Given the description of an element on the screen output the (x, y) to click on. 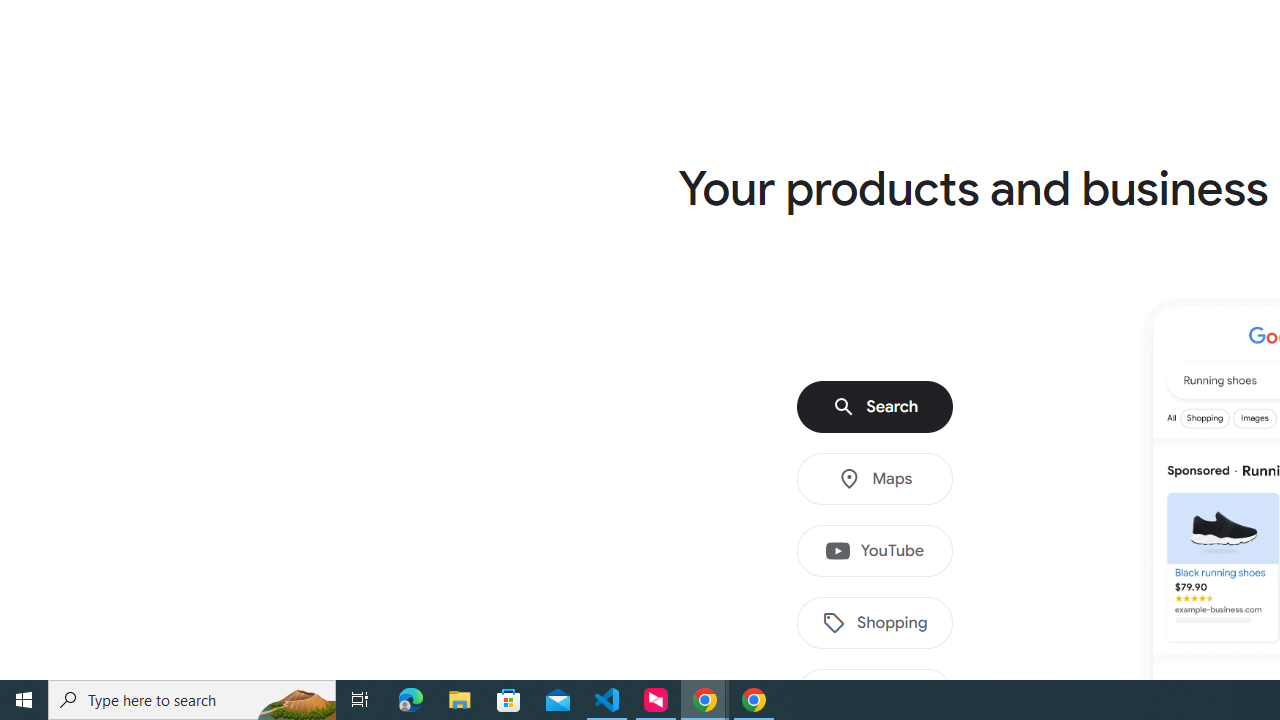
YouTube (875, 551)
Maps (875, 479)
Shopping (875, 623)
